Given the description of an element on the screen output the (x, y) to click on. 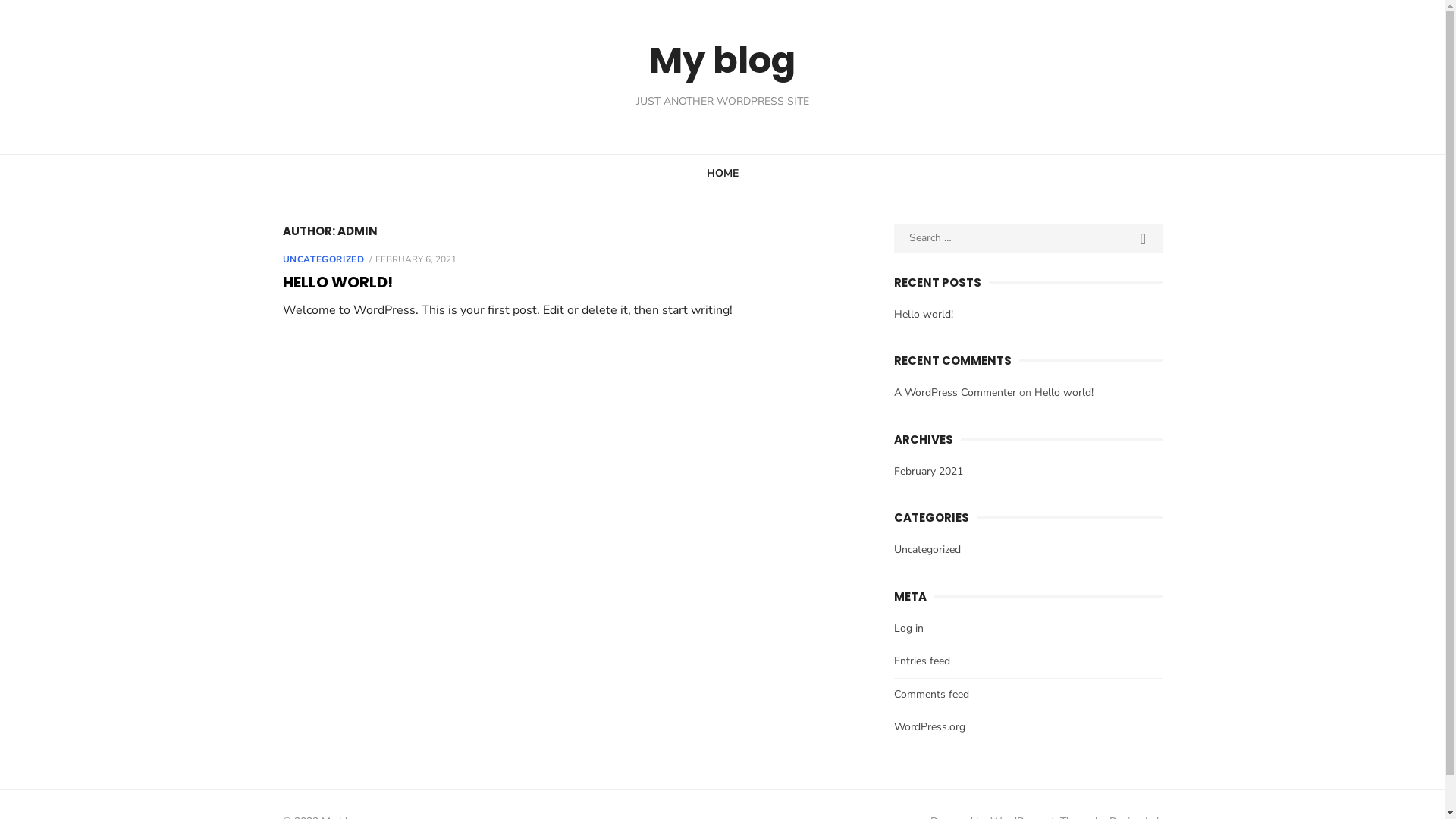
UNCATEGORIZED Element type: text (323, 259)
Uncategorized Element type: text (927, 549)
A WordPress Commenter Element type: text (955, 392)
Comments feed Element type: text (931, 694)
February 2021 Element type: text (928, 471)
Hello world! Element type: text (923, 313)
WordPress.org Element type: text (929, 726)
Log in Element type: text (908, 627)
HELLO WORLD! Element type: text (337, 281)
Hello world! Element type: text (1063, 392)
HOME Element type: text (722, 172)
FEBRUARY 6, 2021 Element type: text (415, 259)
Entries feed Element type: text (922, 660)
My blog Element type: text (722, 59)
Skip to content Element type: text (0, 0)
